Given the description of an element on the screen output the (x, y) to click on. 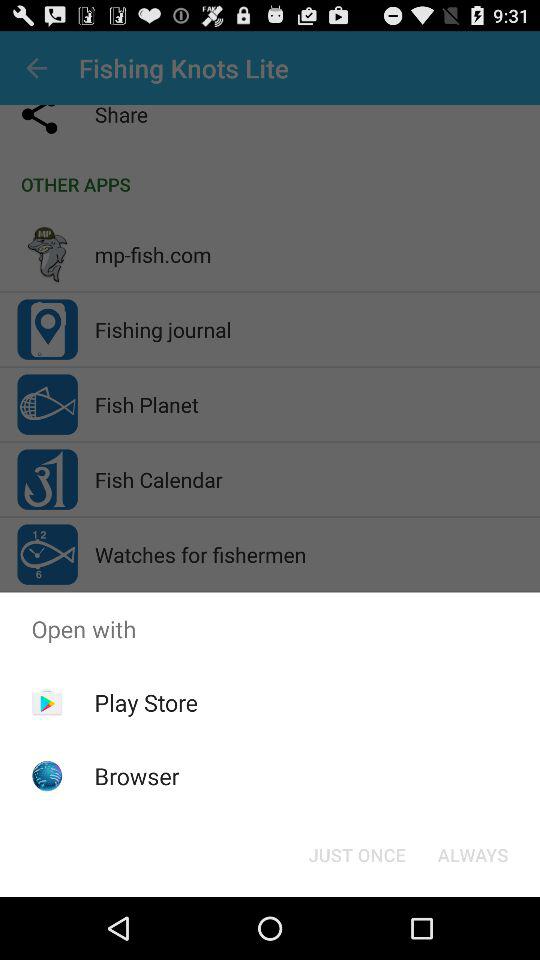
click always button (472, 854)
